Given the description of an element on the screen output the (x, y) to click on. 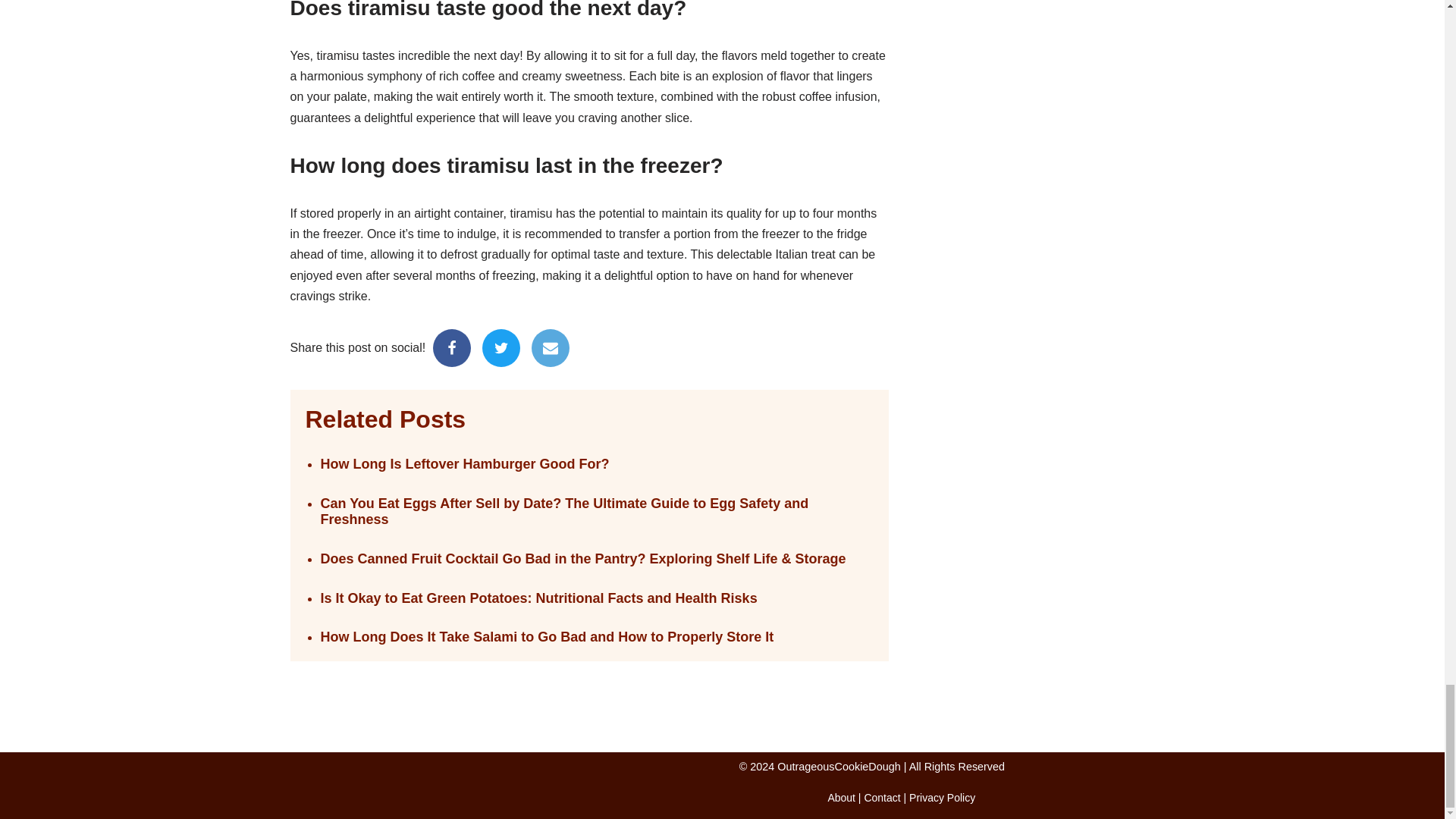
Twitter (500, 347)
Email (550, 347)
Facebook (451, 347)
How Long Is Leftover Hamburger Good For? (596, 464)
